Given the description of an element on the screen output the (x, y) to click on. 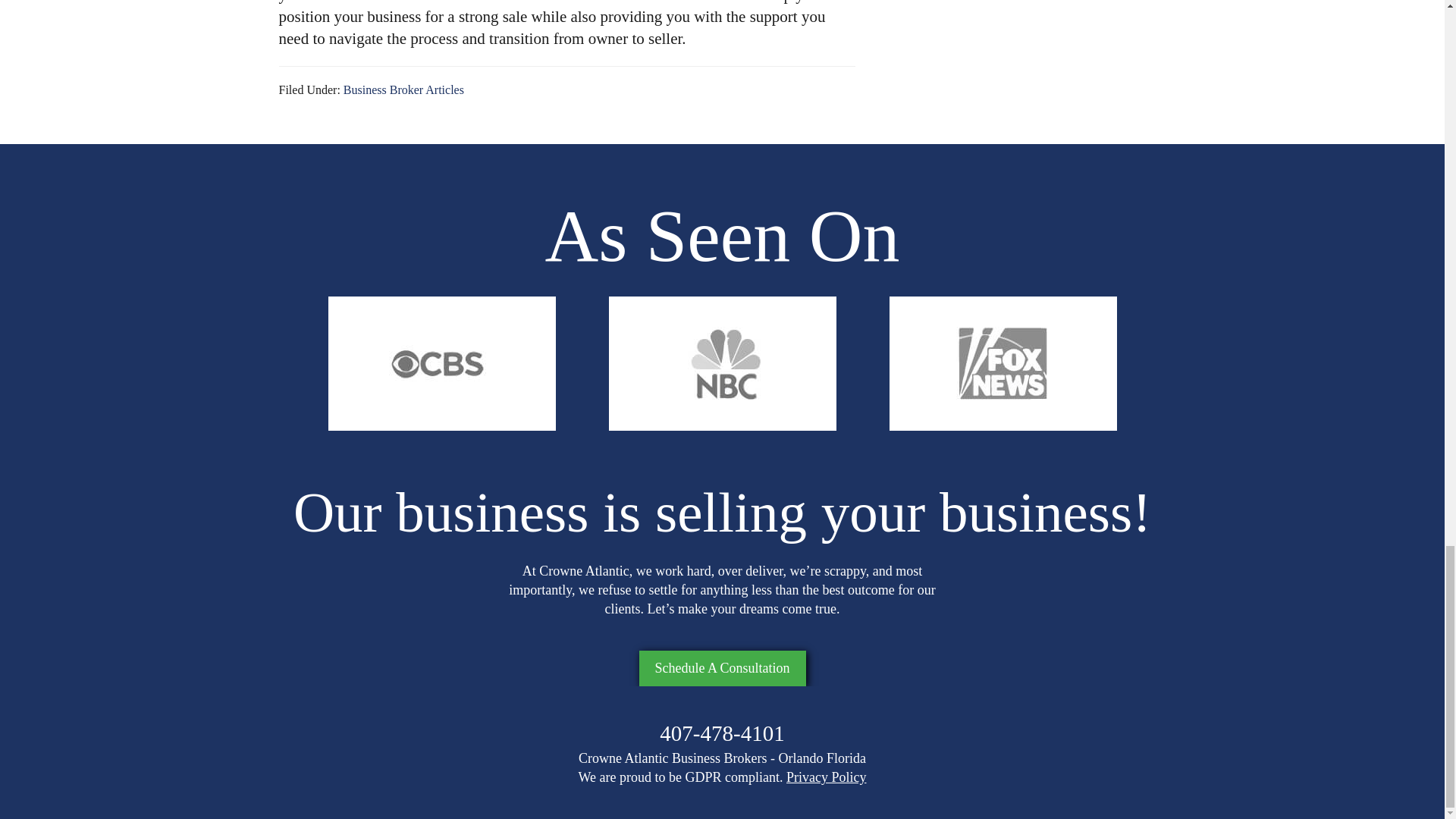
Business Broker Articles (403, 89)
